Given the description of an element on the screen output the (x, y) to click on. 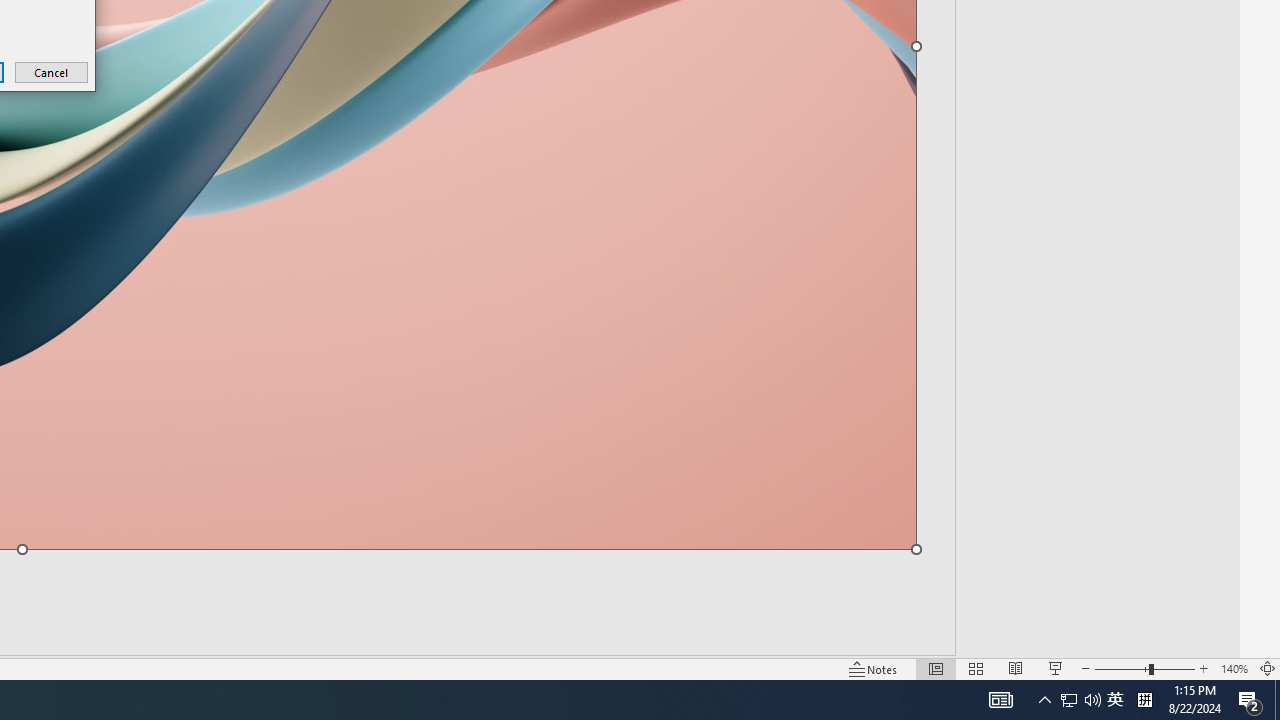
Zoom 140% (1234, 668)
